Given the description of an element on the screen output the (x, y) to click on. 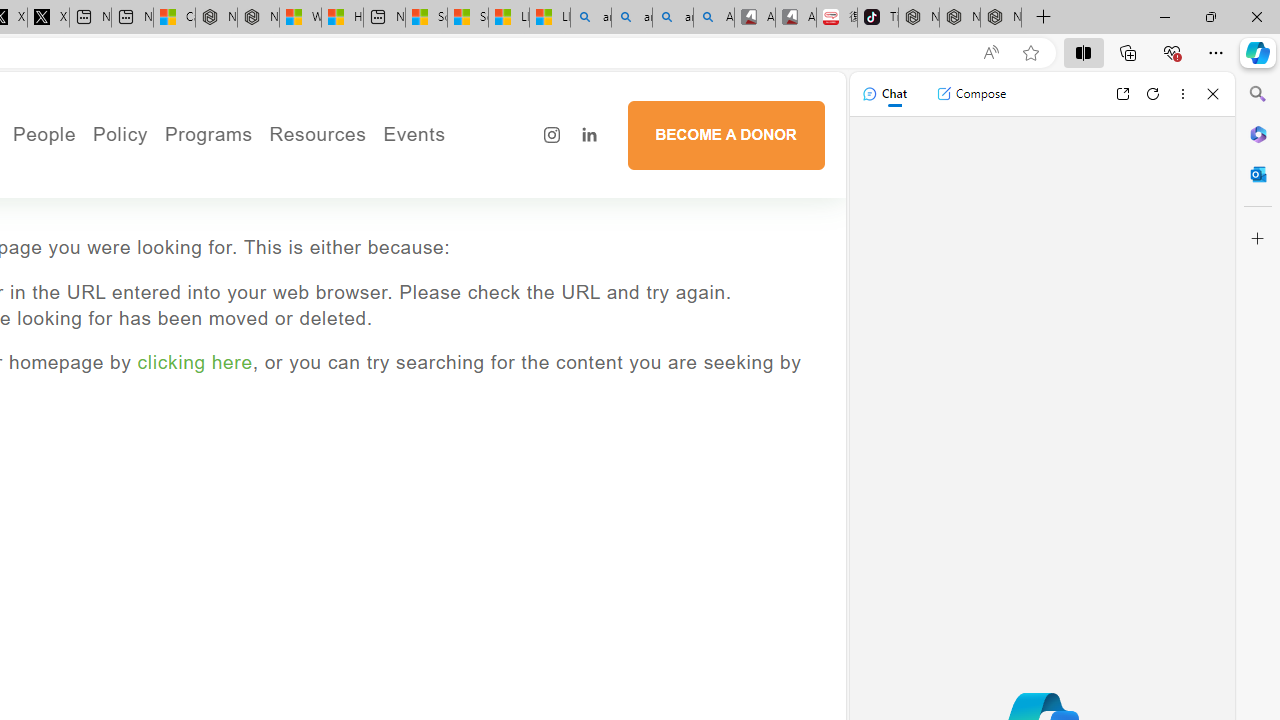
People (111, 200)
Open link in new tab (1122, 93)
Compose (971, 93)
Instagram (552, 135)
Wildlife - MSN (300, 17)
Press (111, 228)
Nordace - Summer Adventures 2024 (258, 17)
Microsoft 365 (1258, 133)
BECOME A DONOR (726, 134)
Outlook (1258, 174)
Programs (208, 134)
LinkedIn (589, 135)
Working Groups and Alliances (230, 173)
X (48, 17)
